Given the description of an element on the screen output the (x, y) to click on. 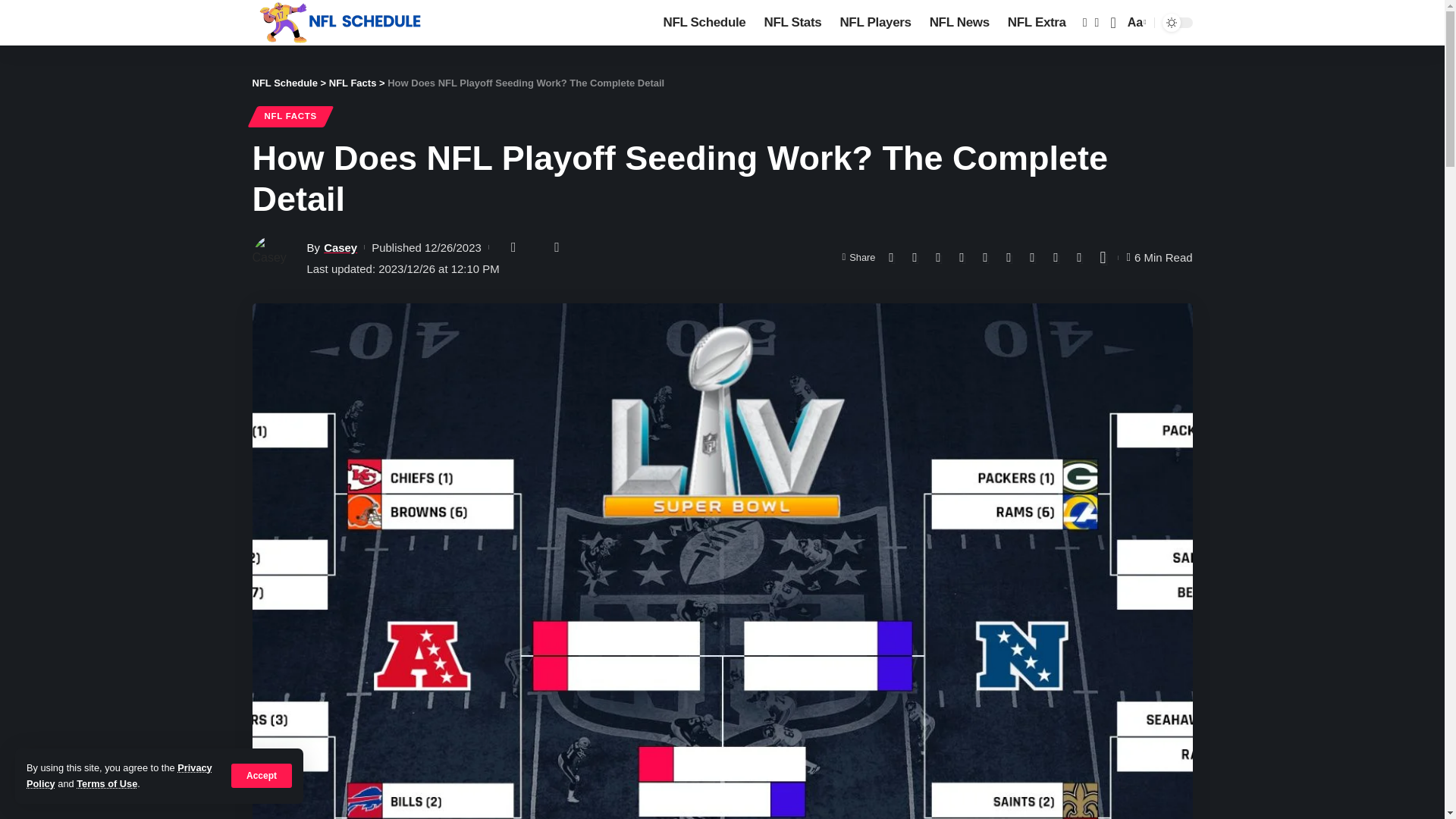
NFL Players (874, 22)
Go to the NFL Facts Category archives. (353, 82)
NFL Extra (1036, 22)
NFL Schedule (703, 22)
NFL Schedule (284, 82)
NFL Facts (353, 82)
Casey (339, 247)
Privacy Policy (119, 775)
Accept (261, 775)
Terms of Use (106, 783)
